Given the description of an element on the screen output the (x, y) to click on. 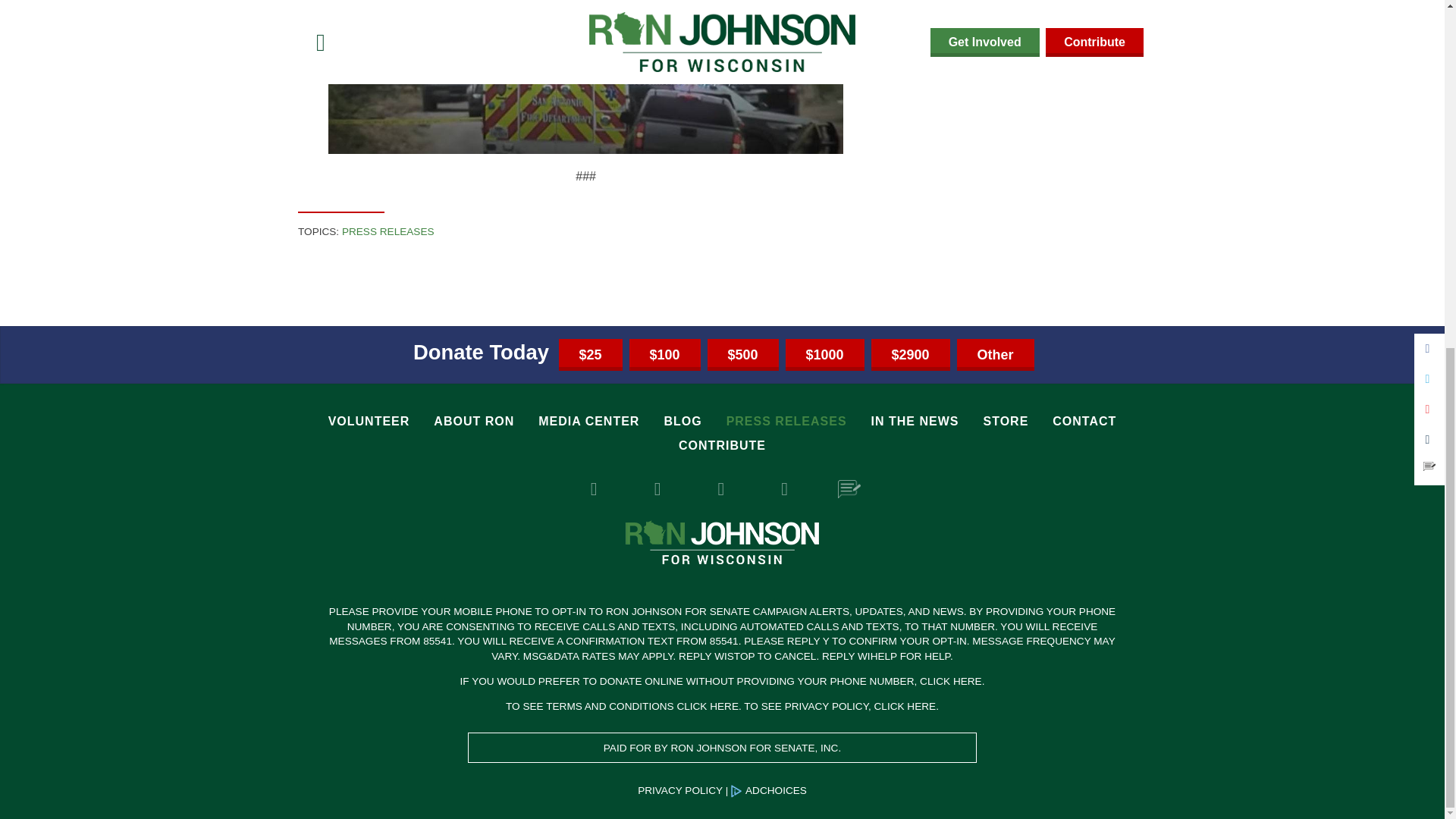
STORE (1004, 421)
Press Releases Category (387, 231)
CONTACT (1084, 421)
VOLUNTEER (368, 421)
BLOG (682, 421)
PRESS RELEASES (387, 231)
ABOUT RON (473, 421)
Other (994, 355)
MEDIA CENTER (588, 421)
IN THE NEWS (914, 421)
CONTRIBUTE (721, 445)
PRESS RELEASES (786, 421)
